Given the description of an element on the screen output the (x, y) to click on. 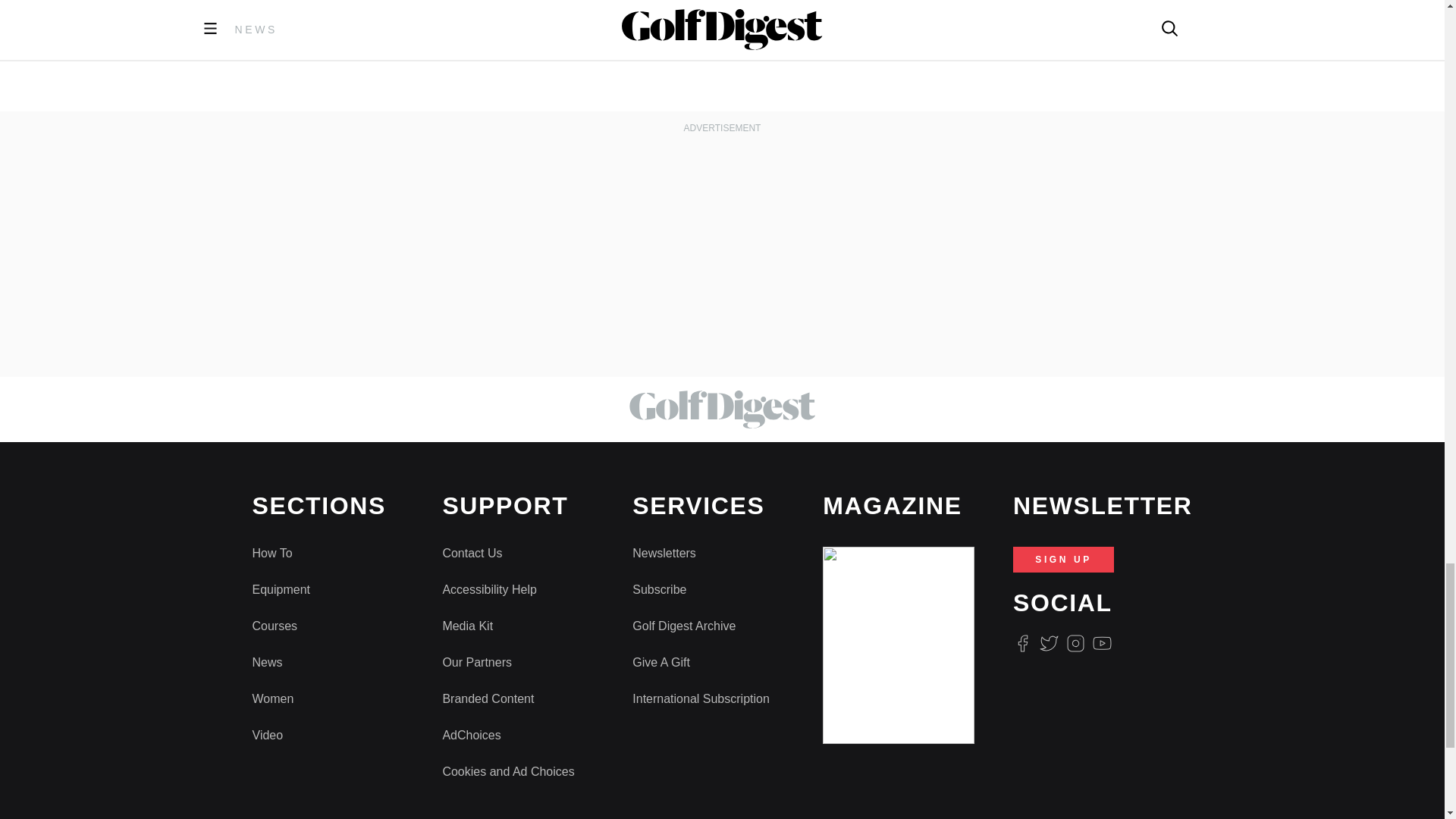
Instagram Logo (1074, 642)
Facebook Logo (1022, 642)
Twitter Logo (1048, 642)
Youtube Icon (1102, 642)
